Given the description of an element on the screen output the (x, y) to click on. 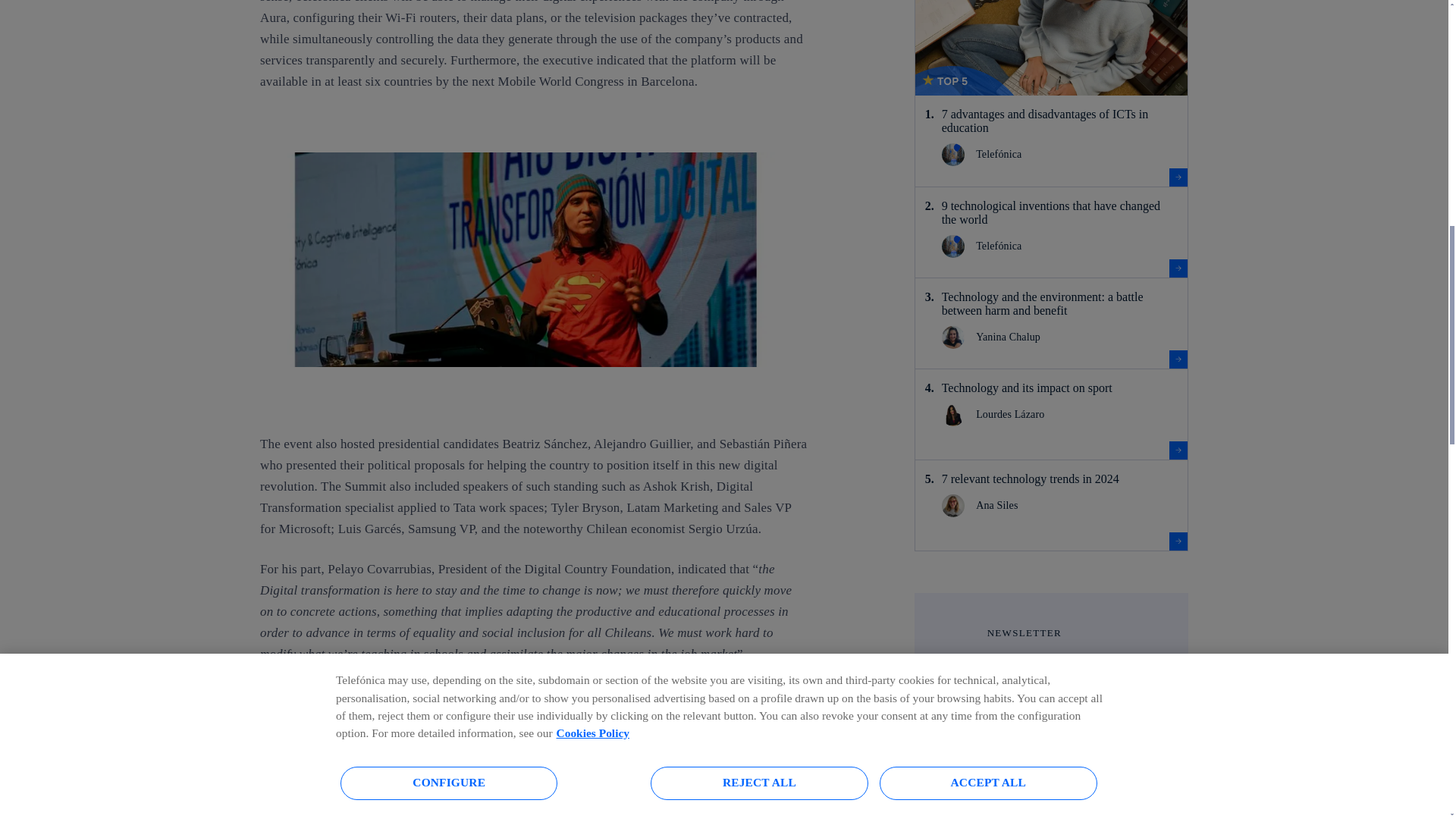
on (948, 743)
Blog (948, 789)
Press (948, 814)
